Given the description of an element on the screen output the (x, y) to click on. 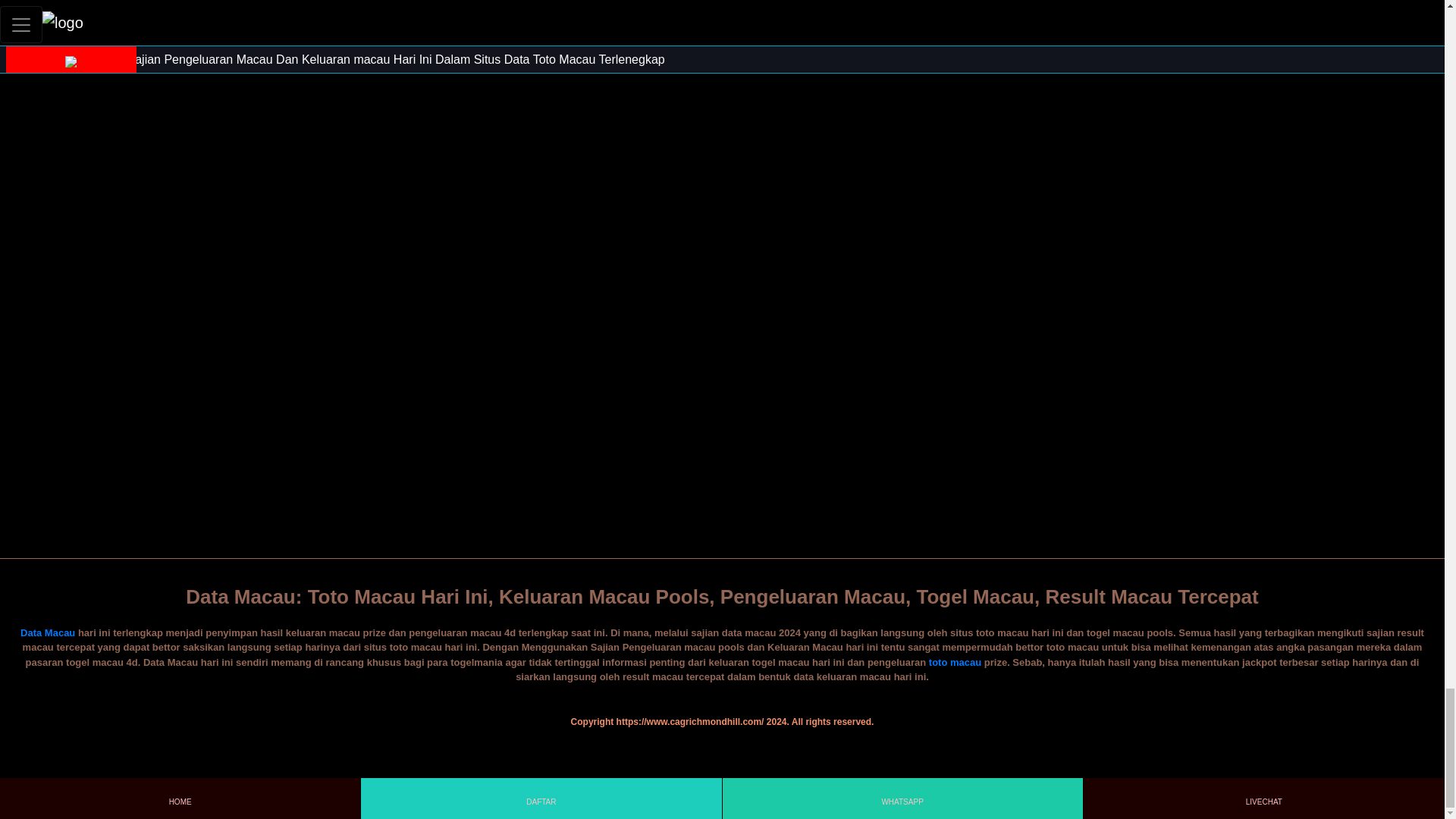
toto macau (954, 662)
Data Macau (47, 632)
LIVECHAT (1263, 798)
WHATSAPP (901, 798)
DAFTAR (540, 798)
HOME (179, 798)
